Given the description of an element on the screen output the (x, y) to click on. 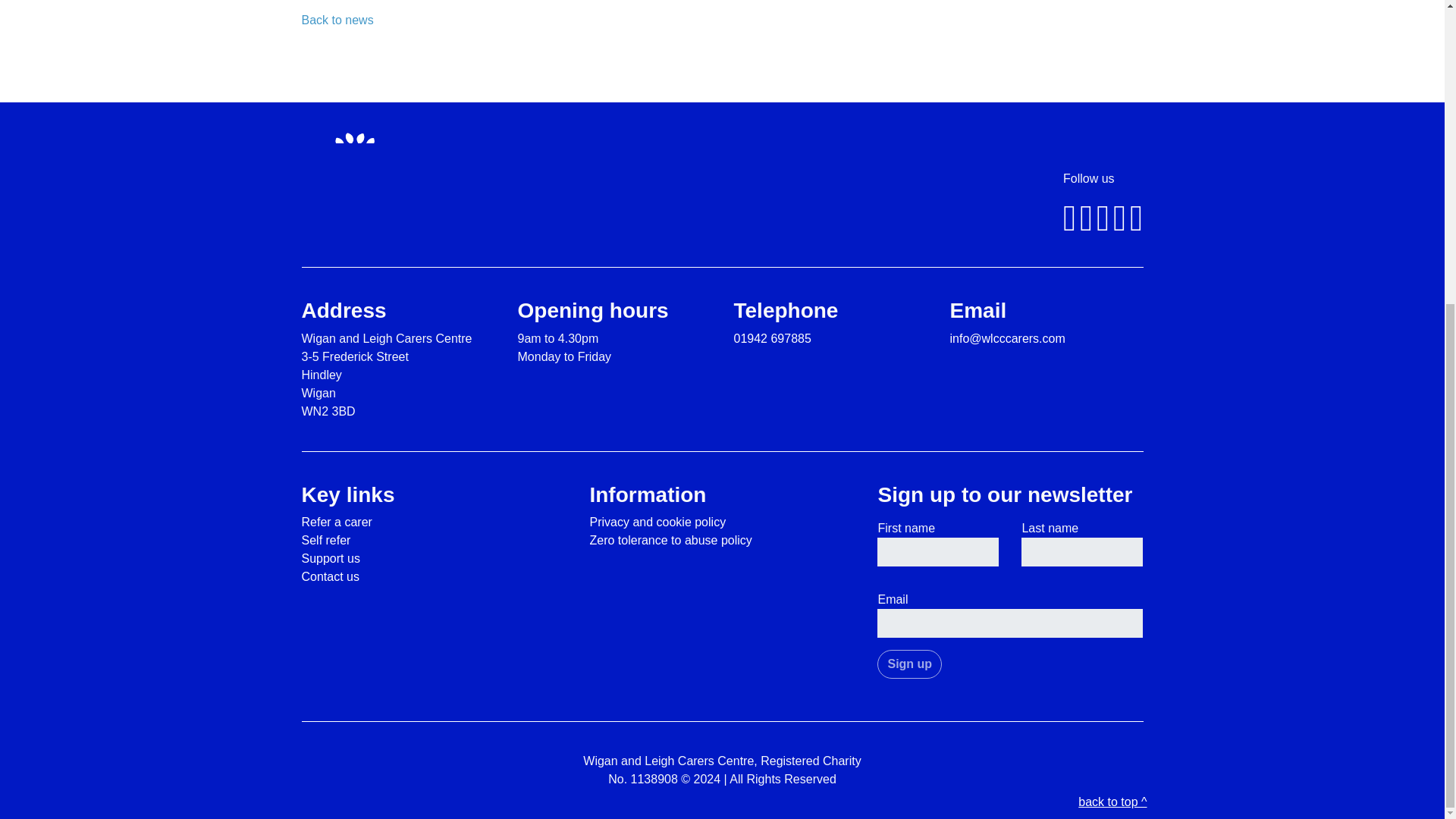
Sign up (909, 664)
Back to top (1009, 605)
